Given the description of an element on the screen output the (x, y) to click on. 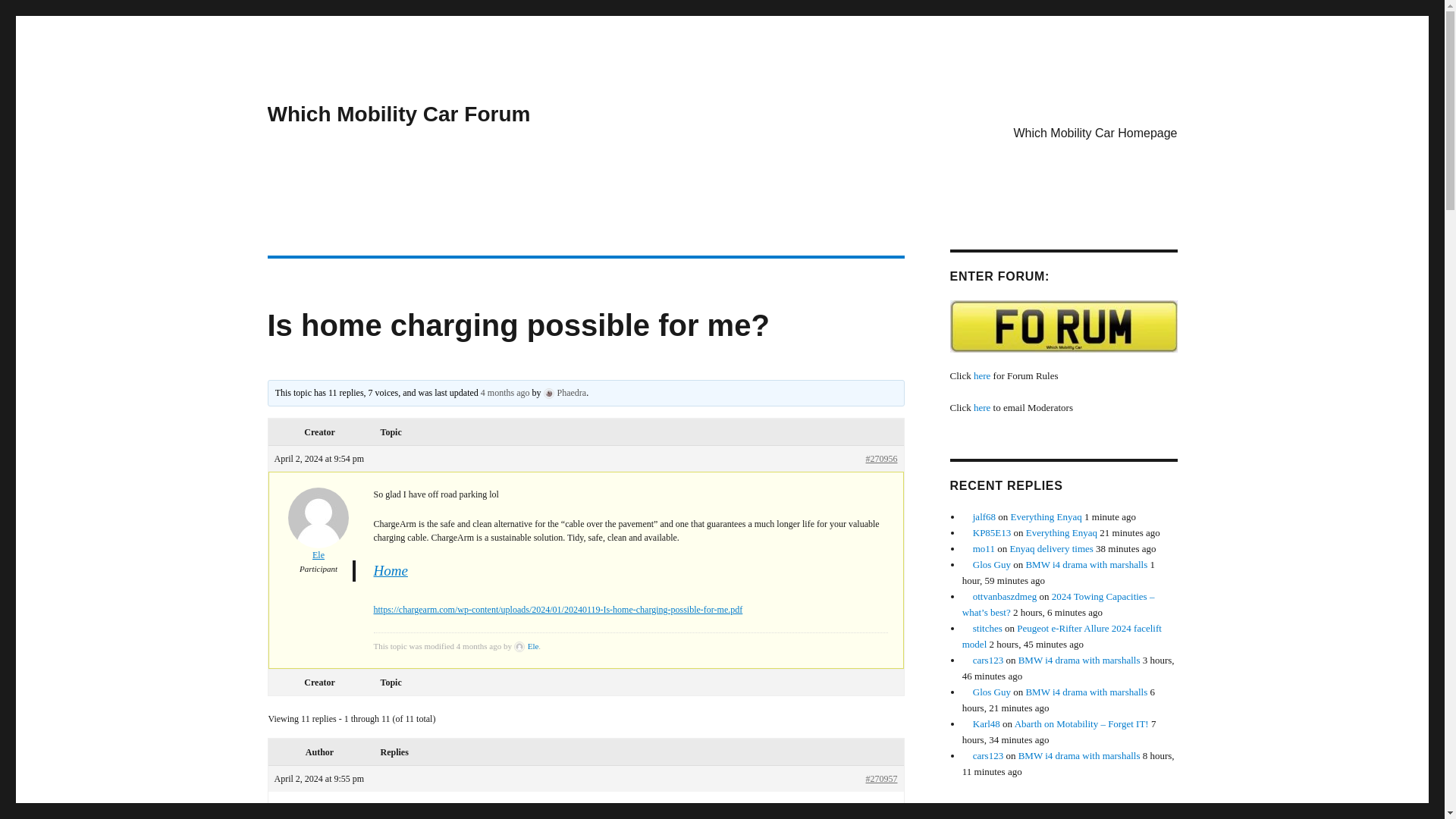
View Phaedra's profile (564, 392)
View Ele's profile (318, 812)
Ele (525, 645)
Ele (318, 812)
Which Mobility Car Homepage (1095, 132)
Ele (318, 533)
Reply To: Is home charging possible for me? (504, 392)
4 months ago (504, 392)
Phaedra (564, 392)
Which Mobility Car Forum (397, 114)
View Ele's profile (525, 645)
Home (390, 570)
View Ele's profile (318, 533)
